Given the description of an element on the screen output the (x, y) to click on. 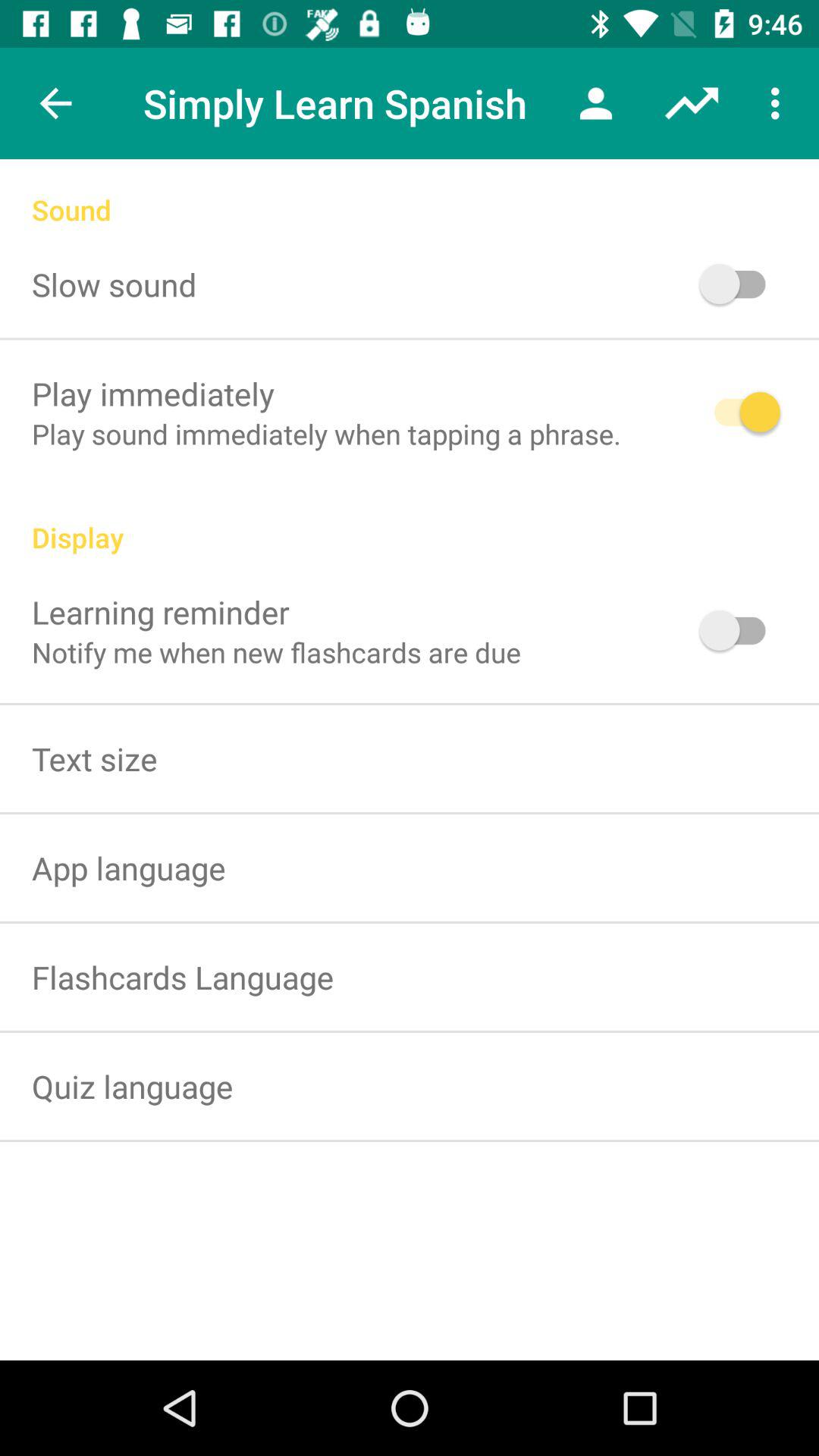
select the icon above sound item (55, 103)
